Given the description of an element on the screen output the (x, y) to click on. 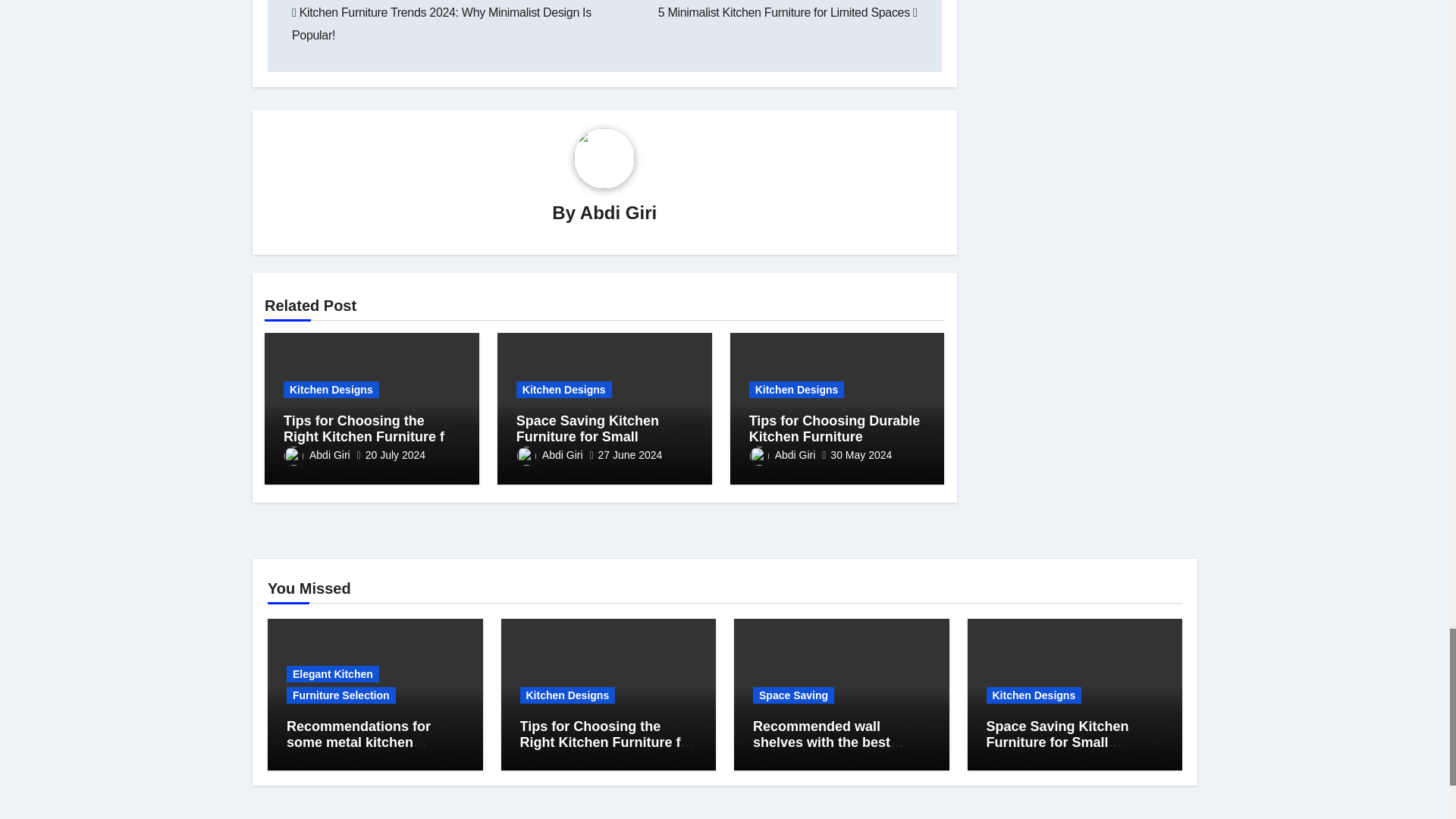
Kitchen Designs (330, 389)
Abdi Giri (617, 212)
5 Minimalist Kitchen Furniture for Limited Spaces (787, 11)
Permalink to: Tips for Choosing Durable Kitchen Furniture (834, 429)
Permalink to: Recommended wall shelves with the best quality (828, 742)
